Given the description of an element on the screen output the (x, y) to click on. 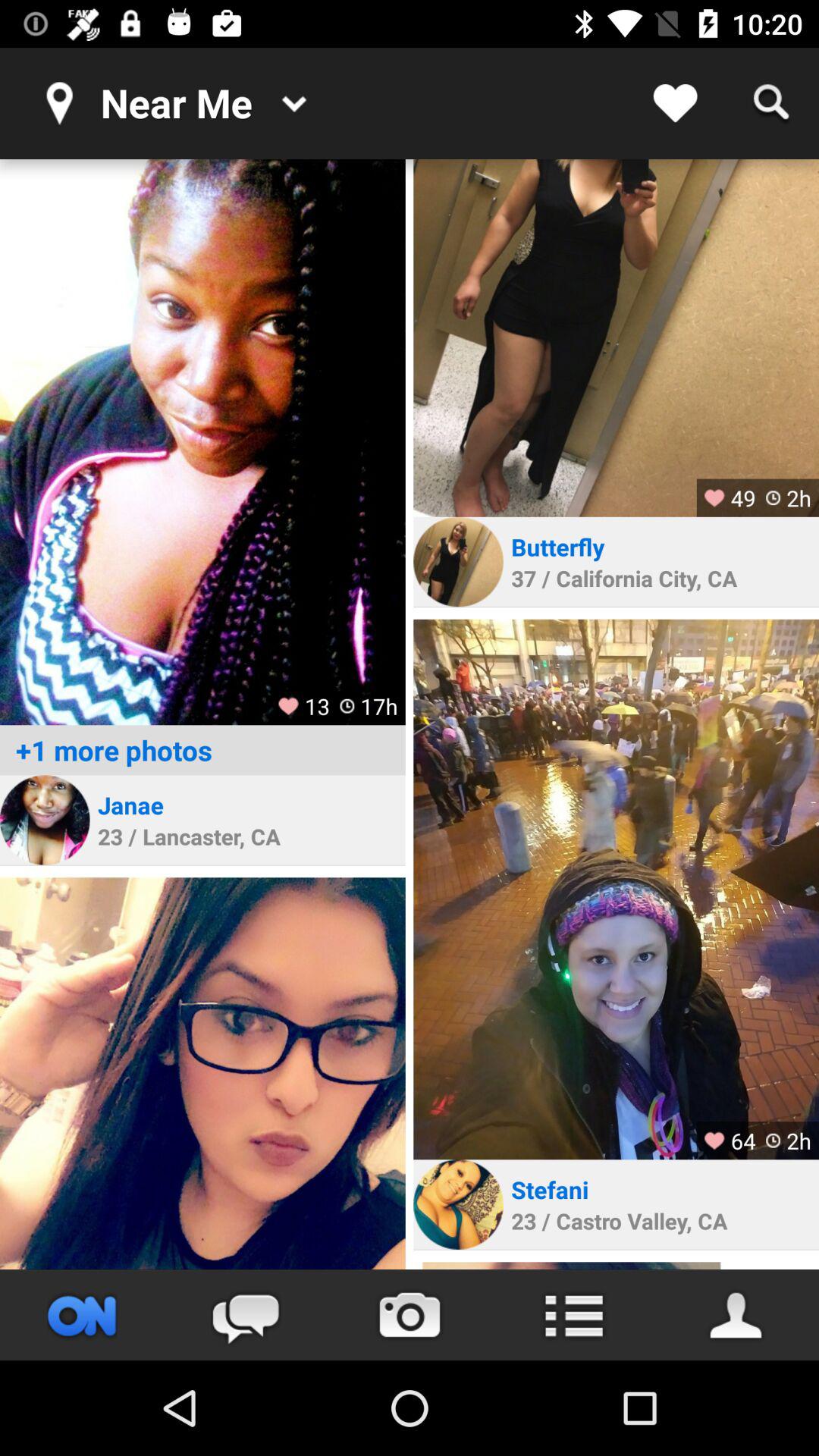
launch the +1 more photos (202, 750)
